Given the description of an element on the screen output the (x, y) to click on. 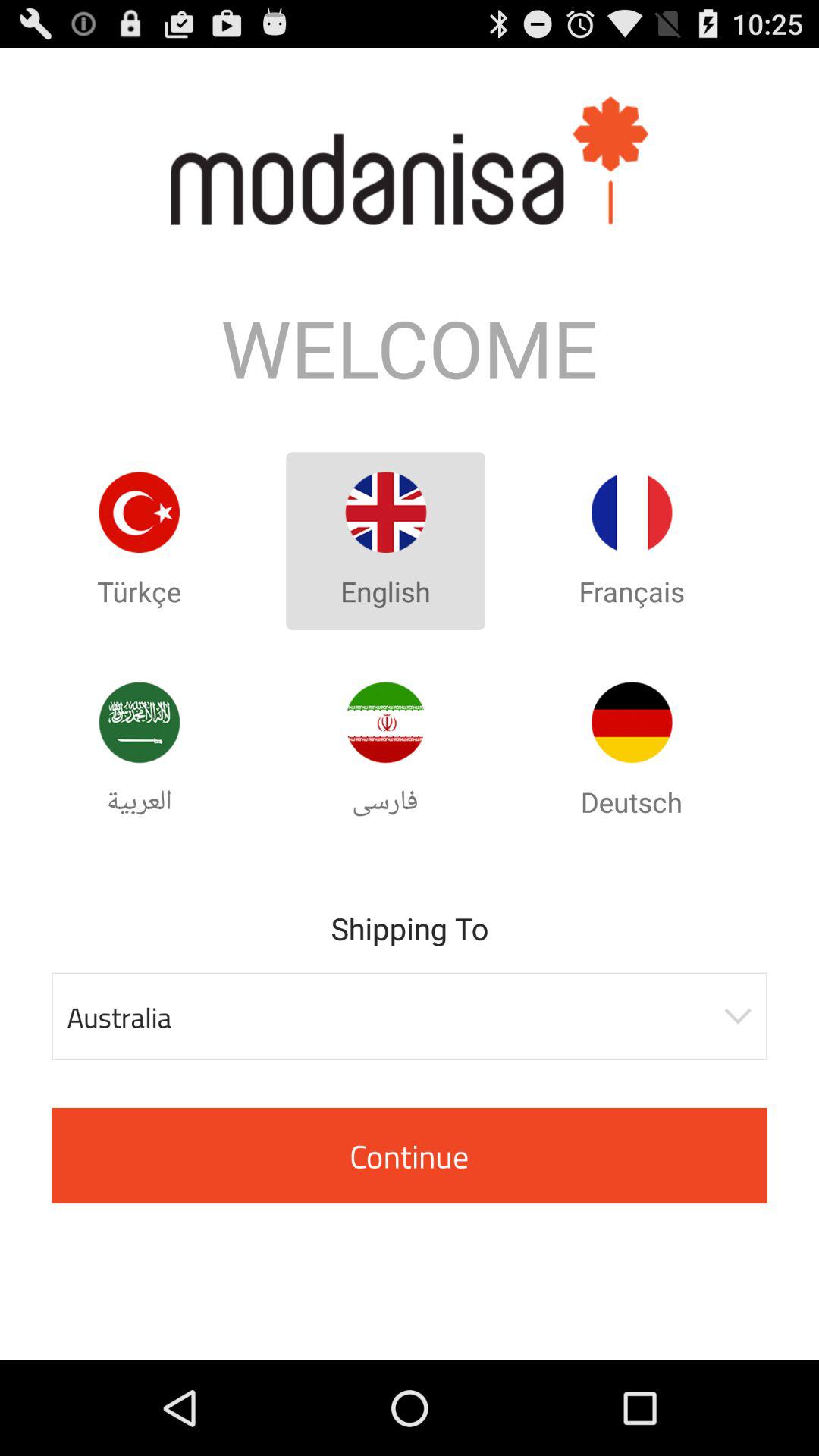
select english option (385, 512)
